Given the description of an element on the screen output the (x, y) to click on. 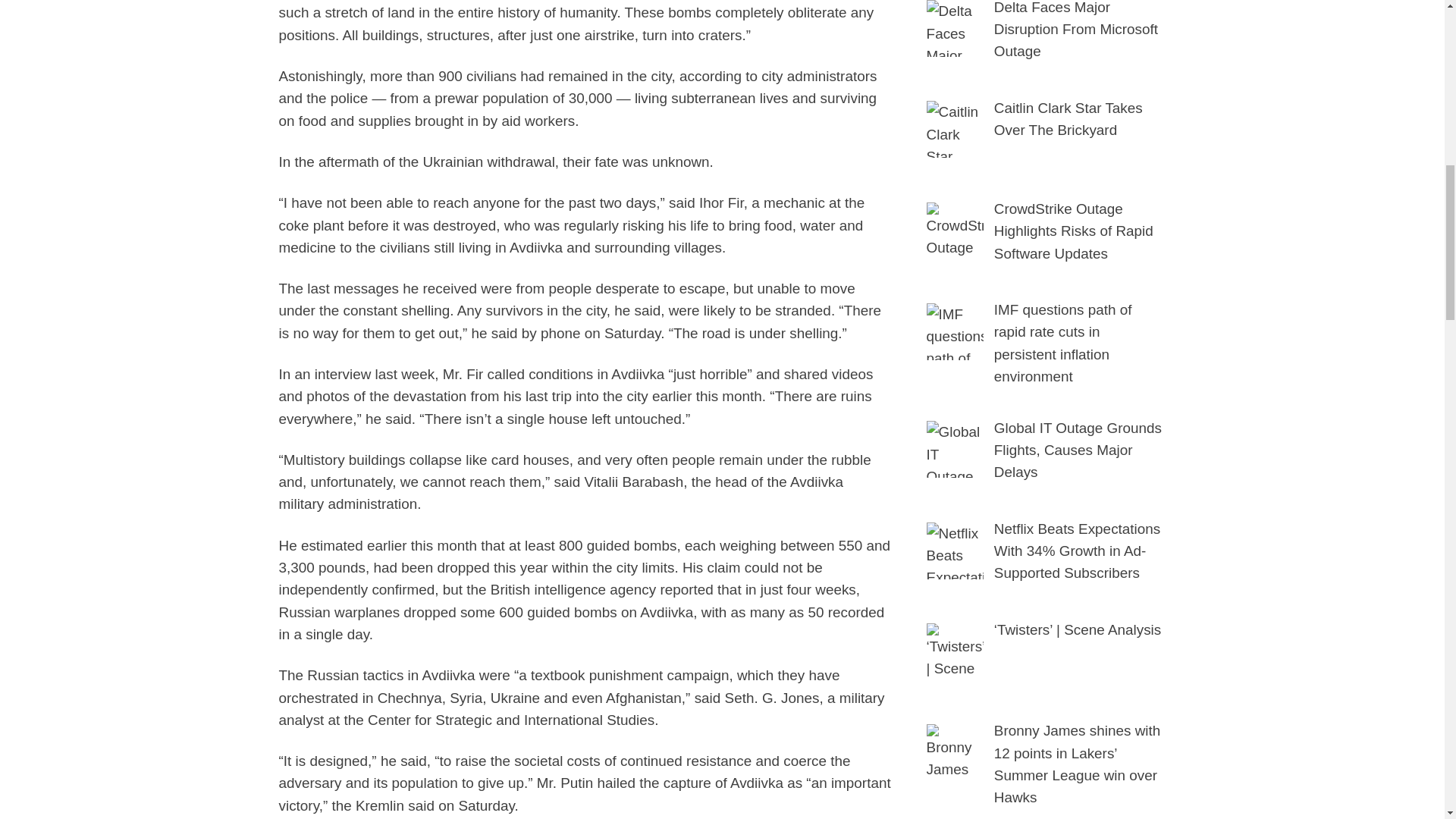
Caitlin Clark Star Takes Over The Brickyard (955, 129)
Delta Faces Major Disruption From Microsoft Outage (955, 28)
Caitlin Clark Star Takes Over The Brickyard (1068, 118)
Global IT Outage Grounds Flights, Causes Major Delays (1077, 450)
Global IT Outage Grounds Flights, Causes Major Delays (955, 448)
Delta Faces Major Disruption From Microsoft Outage (1075, 29)
